Given the description of an element on the screen output the (x, y) to click on. 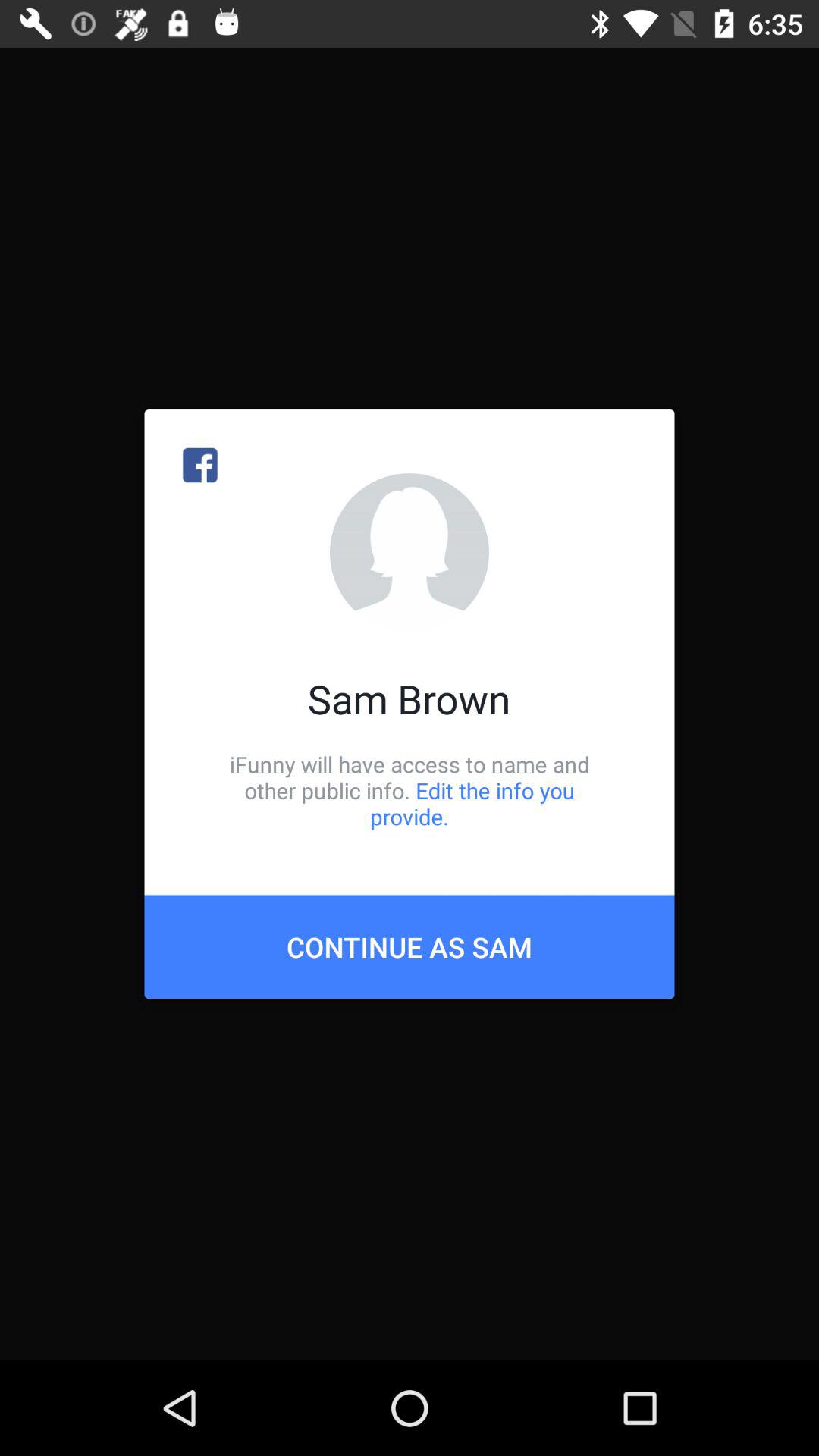
turn on the ifunny will have icon (409, 790)
